Given the description of an element on the screen output the (x, y) to click on. 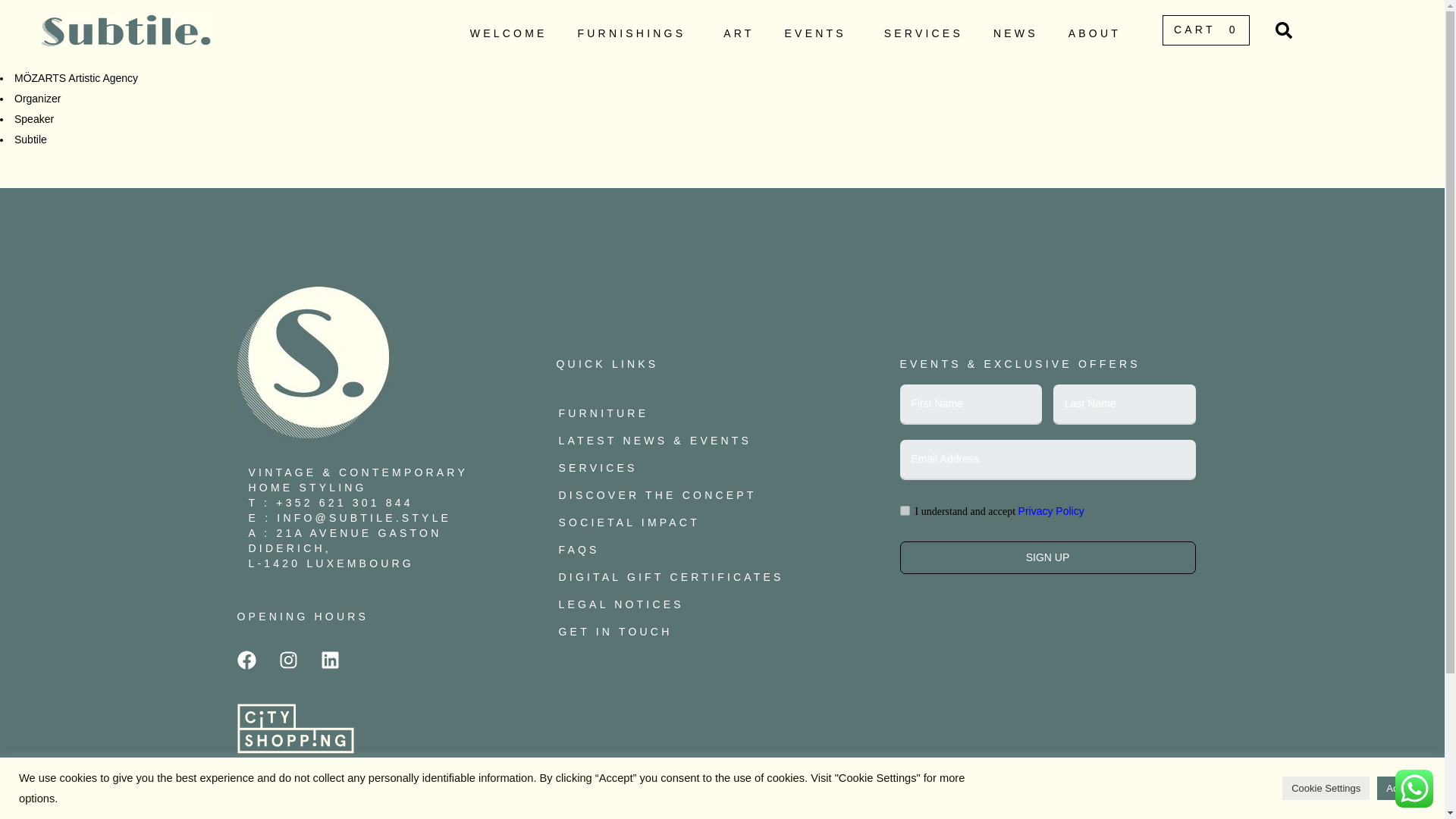
Map (345, 540)
Subtile Light Logo (311, 362)
CART 0 (1205, 30)
FURNISHINGS (635, 34)
City Shopping (294, 749)
EVENTS (819, 34)
SERVICES (923, 34)
Map (330, 563)
Opening Hours (301, 616)
WELCOME (508, 34)
